Given the description of an element on the screen output the (x, y) to click on. 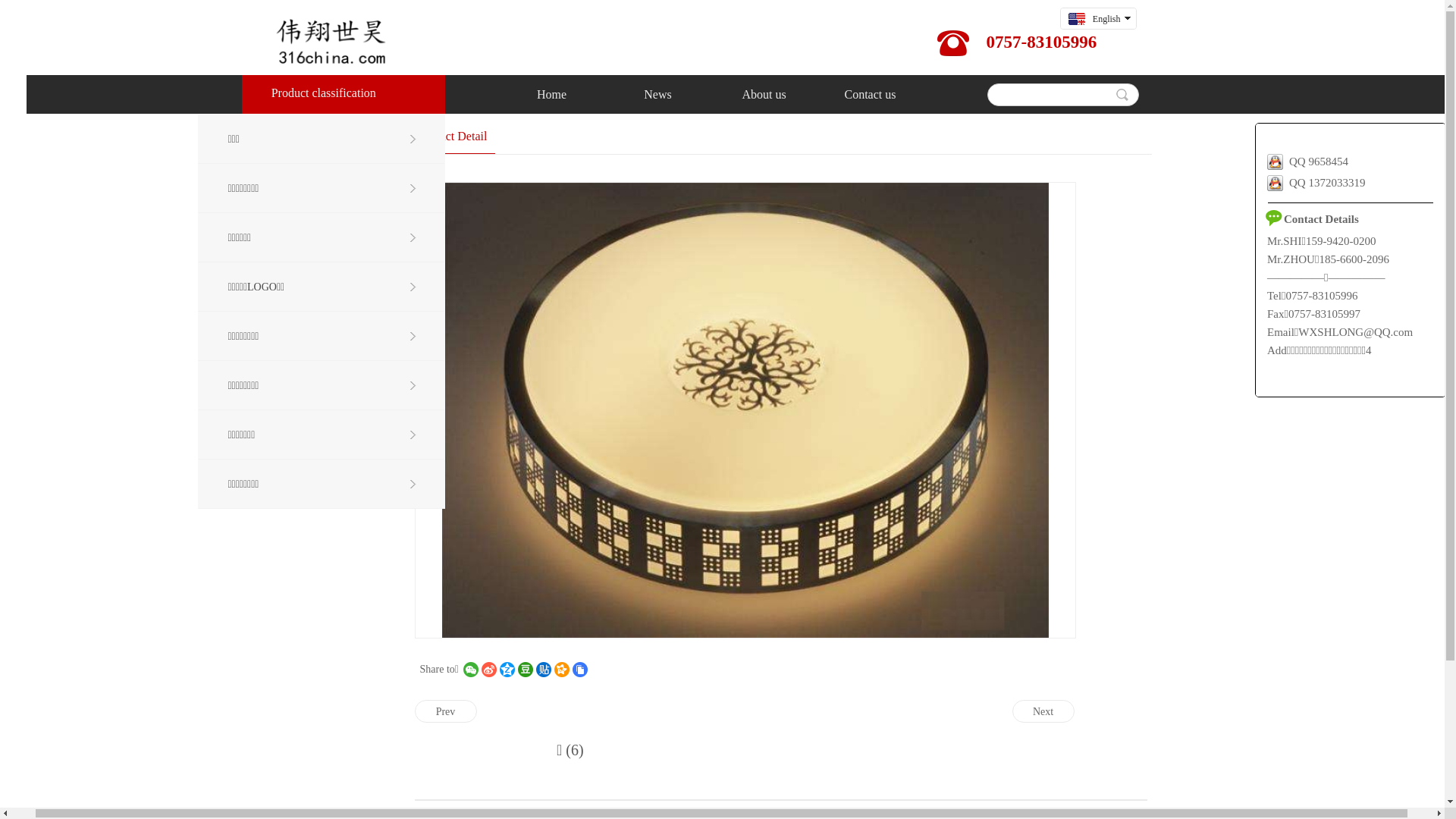
Share to Baidu Tieba Element type: hover (569, 669)
Share to WeChat Element type: hover (496, 669)
Home Element type: text (577, 94)
Next Element type: text (1068, 711)
Share to KaiXinWang Element type: hover (587, 669)
Share to Sina Weibo Element type: hover (514, 669)
News Element type: text (683, 94)
News Element type: text (683, 94)
URL Copy Element type: hover (605, 669)
Share to douban Element type: hover (551, 669)
About us Element type: text (789, 94)
Contact us Element type: text (895, 94)
About us Element type: text (789, 94)
 QQ 9658454 Element type: text (1333, 161)
Share to Qzone Element type: hover (533, 669)
Prev Element type: text (471, 711)
Home Element type: text (577, 94)
 QQ 1372033319 Element type: text (1341, 182)
  Element type: text (1109, 38)
Contact us Element type: text (895, 94)
  English Element type: text (1119, 18)
